Given the description of an element on the screen output the (x, y) to click on. 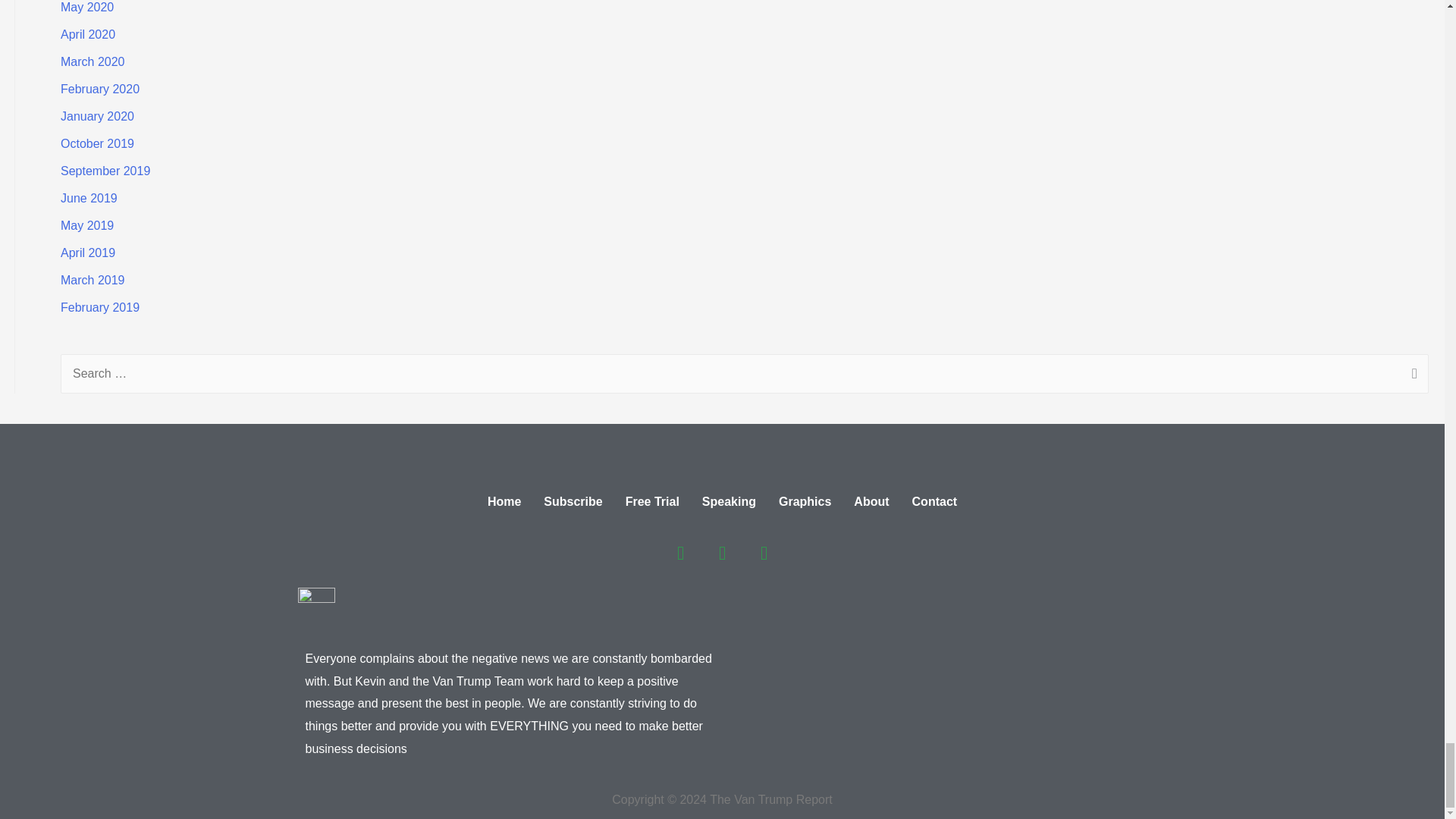
Search (1411, 374)
Search (1411, 374)
